Given the description of an element on the screen output the (x, y) to click on. 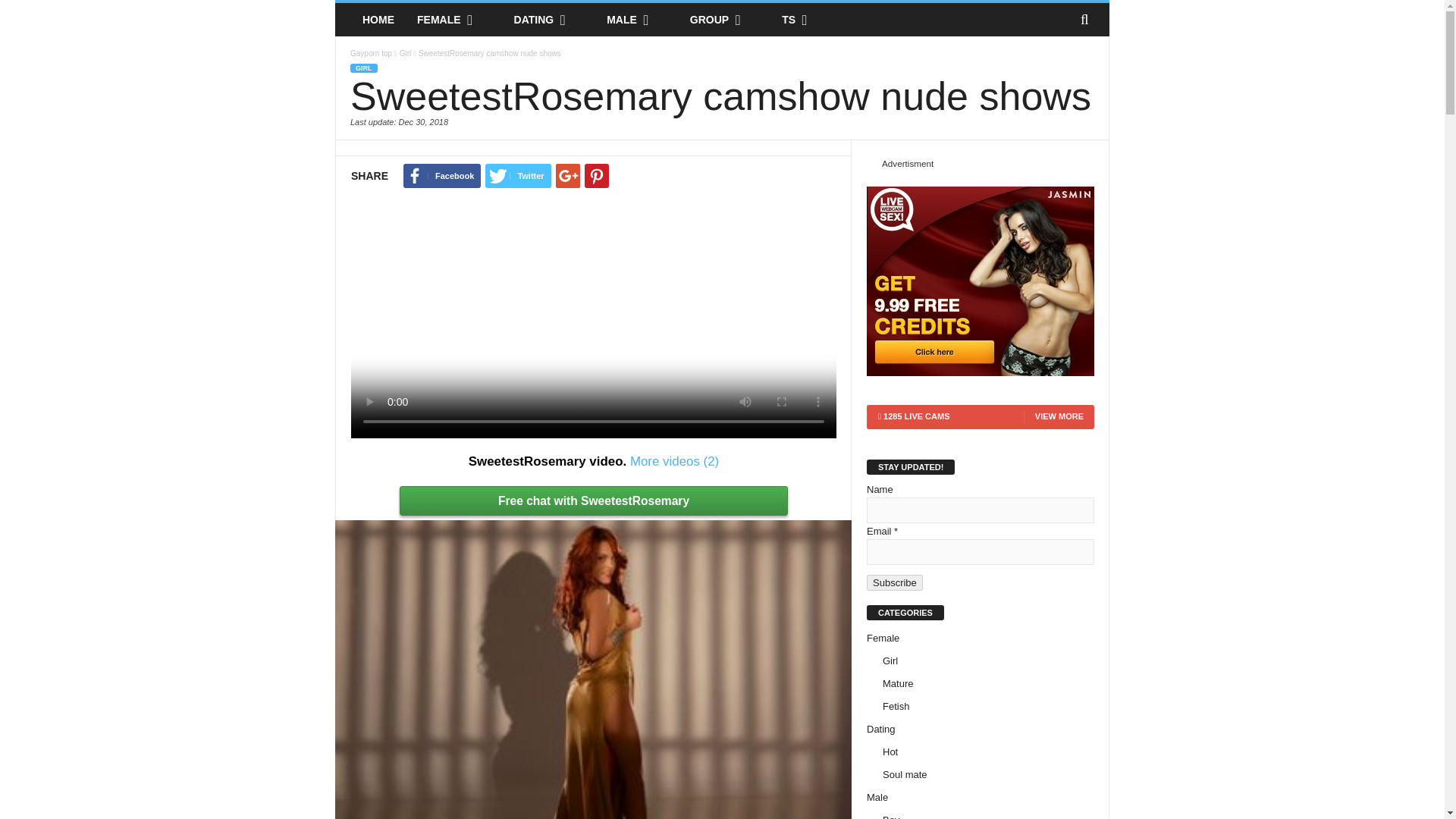
Female (454, 19)
Gayporn top (378, 19)
DATING (548, 19)
Subscribe (894, 582)
HOME (378, 19)
FEMALE (454, 19)
